Given the description of an element on the screen output the (x, y) to click on. 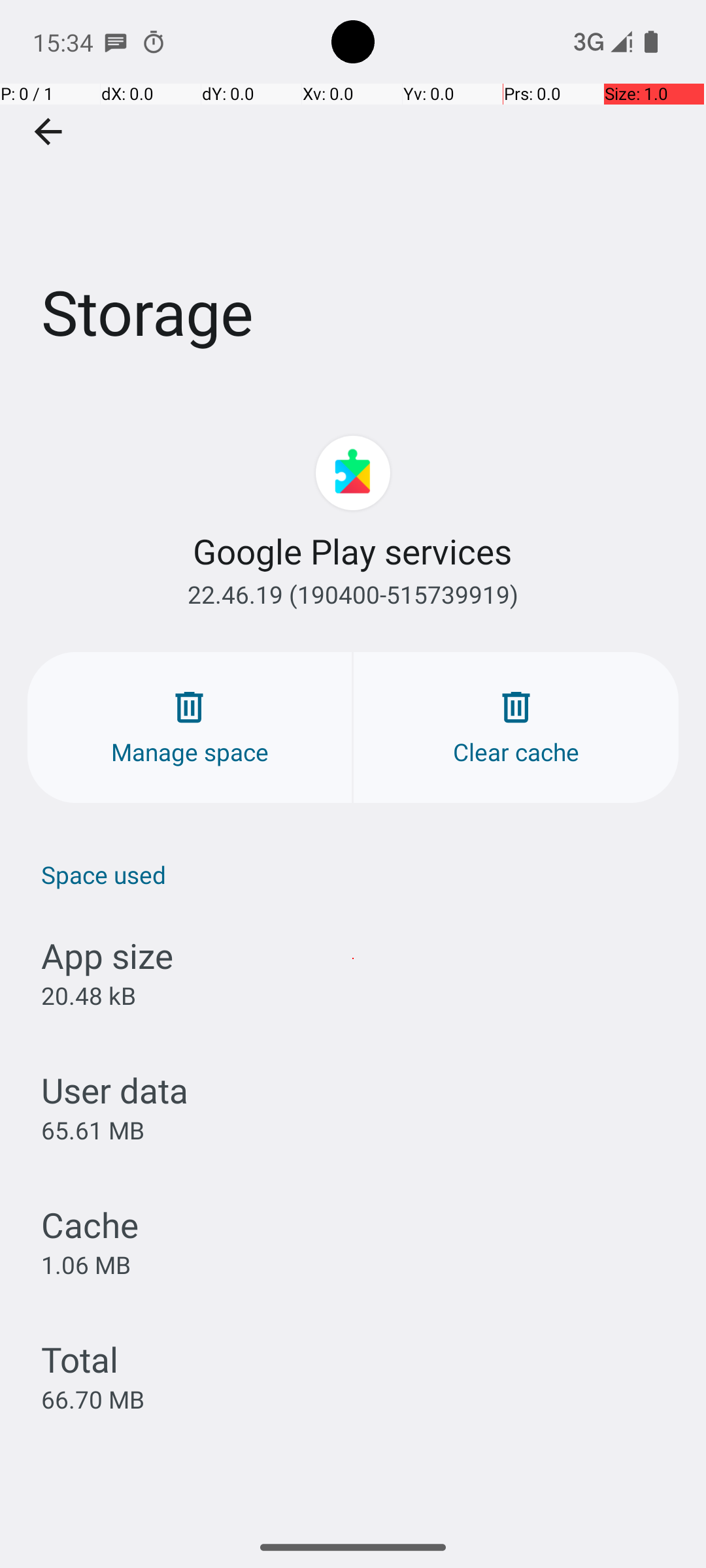
22.46.19 (190400-515739919) Element type: android.widget.TextView (352, 593)
Manage space Element type: android.widget.Button (189, 727)
20.48 kB Element type: android.widget.TextView (88, 995)
65.61 MB Element type: android.widget.TextView (92, 1129)
1.06 MB Element type: android.widget.TextView (85, 1264)
66.70 MB Element type: android.widget.TextView (92, 1398)
